Given the description of an element on the screen output the (x, y) to click on. 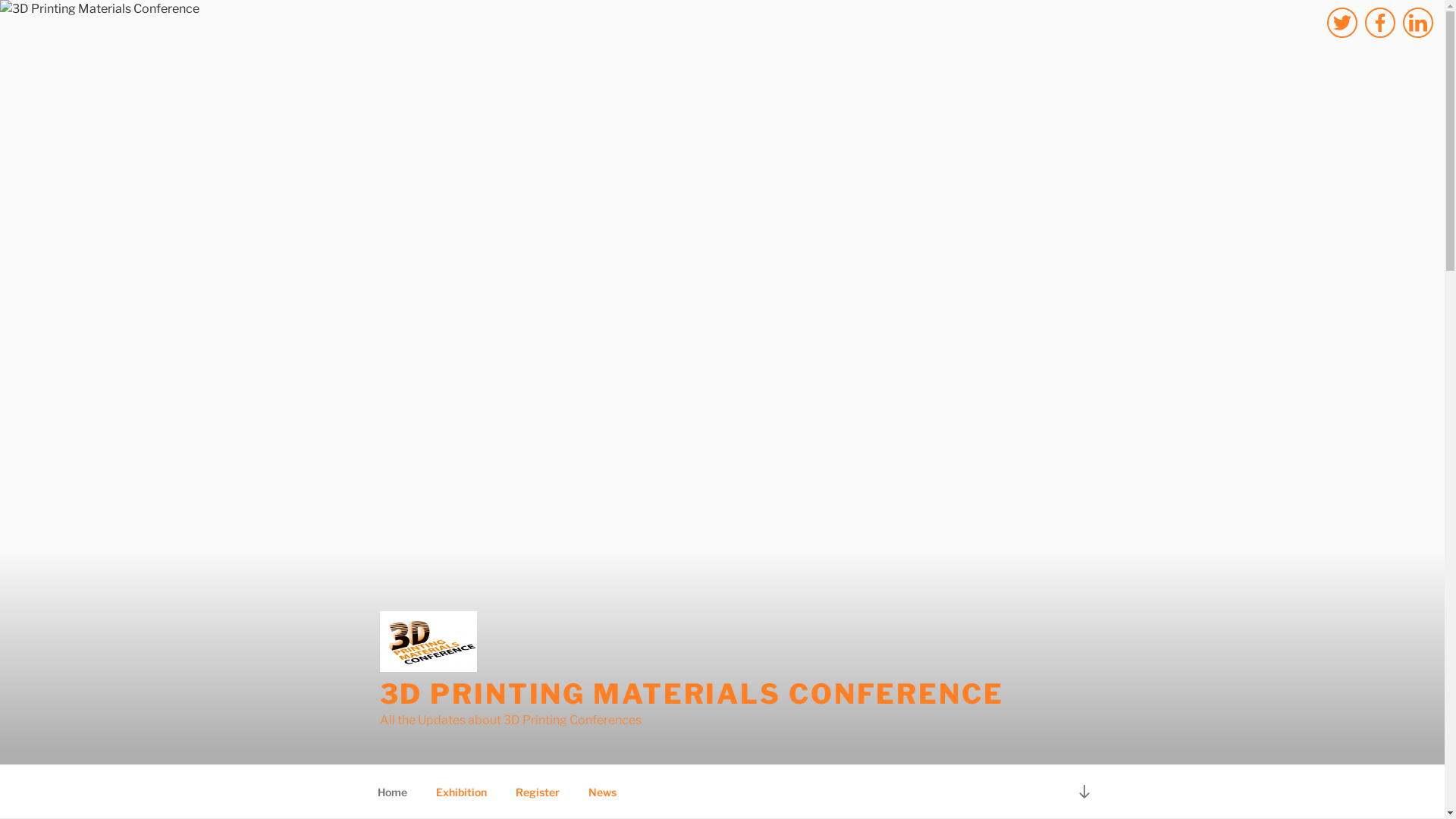
Register Element type: text (537, 791)
Exhibition Element type: text (461, 791)
3D PRINTING MATERIALS CONFERENCE Element type: text (691, 693)
Home Element type: text (392, 791)
Scroll down to content Element type: text (1083, 790)
News Element type: text (601, 791)
